Given the description of an element on the screen output the (x, y) to click on. 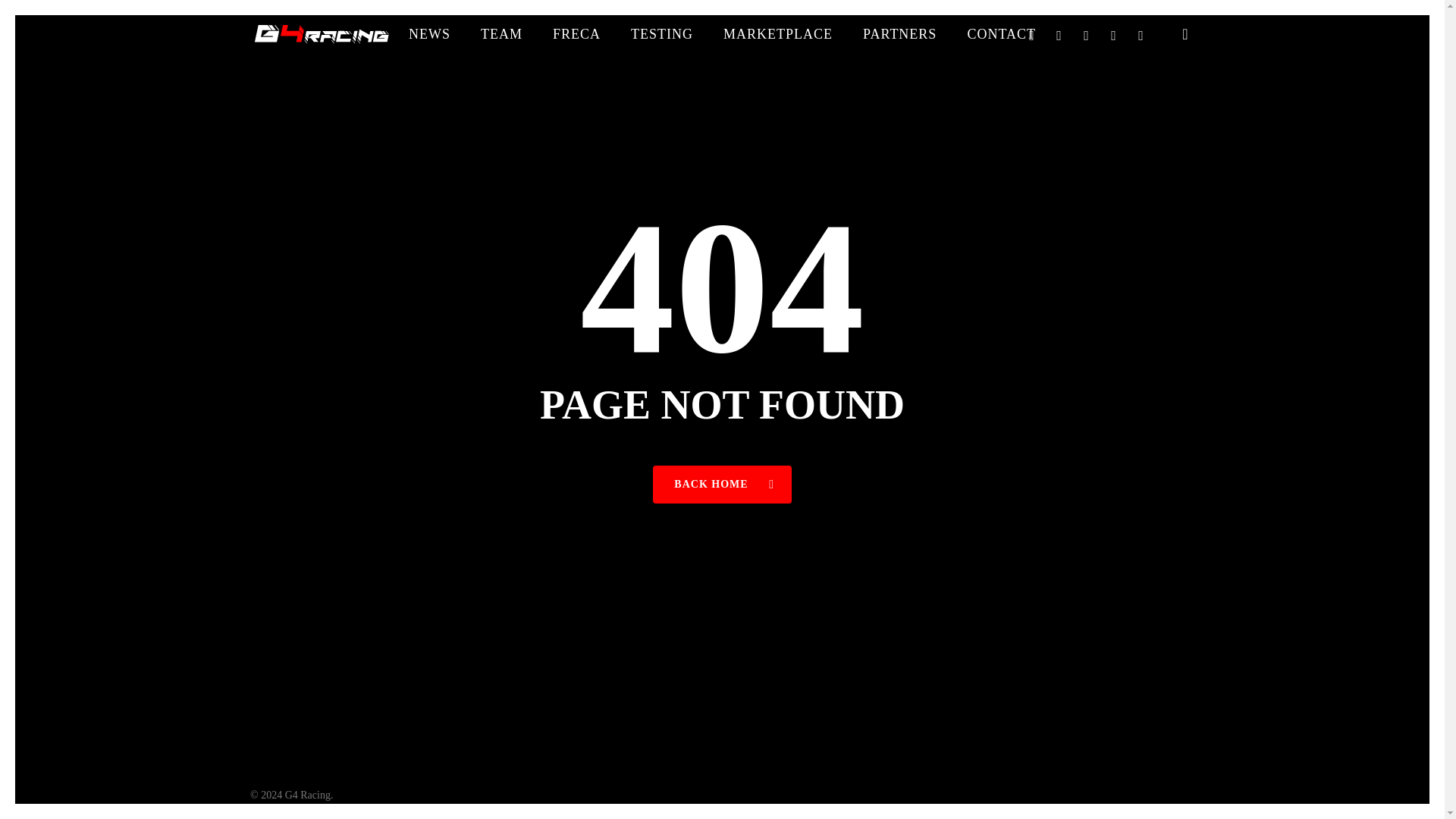
CONTACT (1001, 33)
TWITTER (1031, 34)
PARTNERS (899, 33)
MARKETPLACE (777, 33)
LINKEDIN (1086, 34)
TESTING (661, 33)
EMAIL (1140, 34)
FRECA (576, 33)
INSTAGRAM (1113, 34)
NEWS (429, 33)
account (1184, 33)
TEAM (501, 33)
BACK HOME (721, 484)
FACEBOOK (1059, 34)
